Given the description of an element on the screen output the (x, y) to click on. 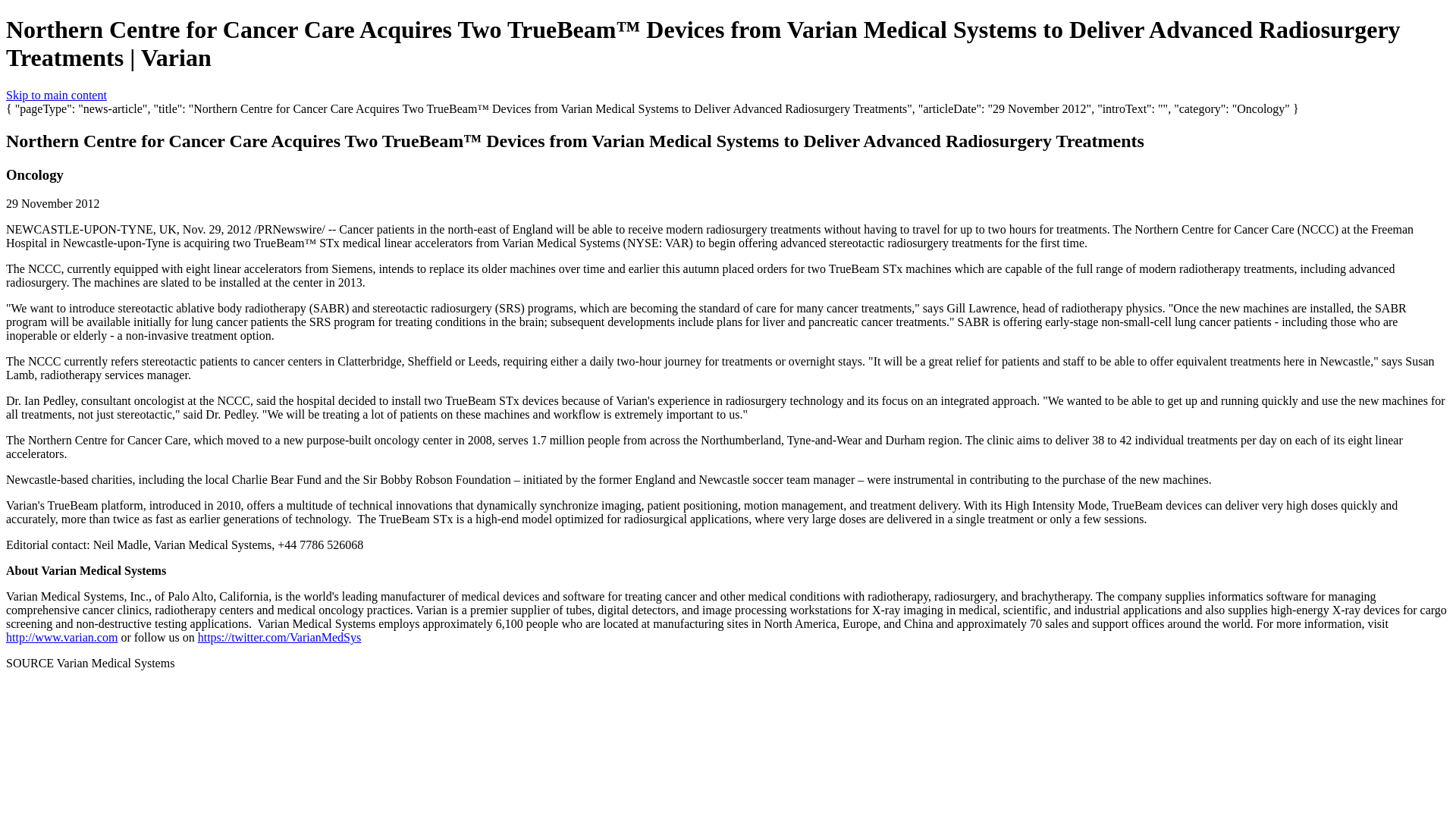
Skip to main content (55, 94)
